Given the description of an element on the screen output the (x, y) to click on. 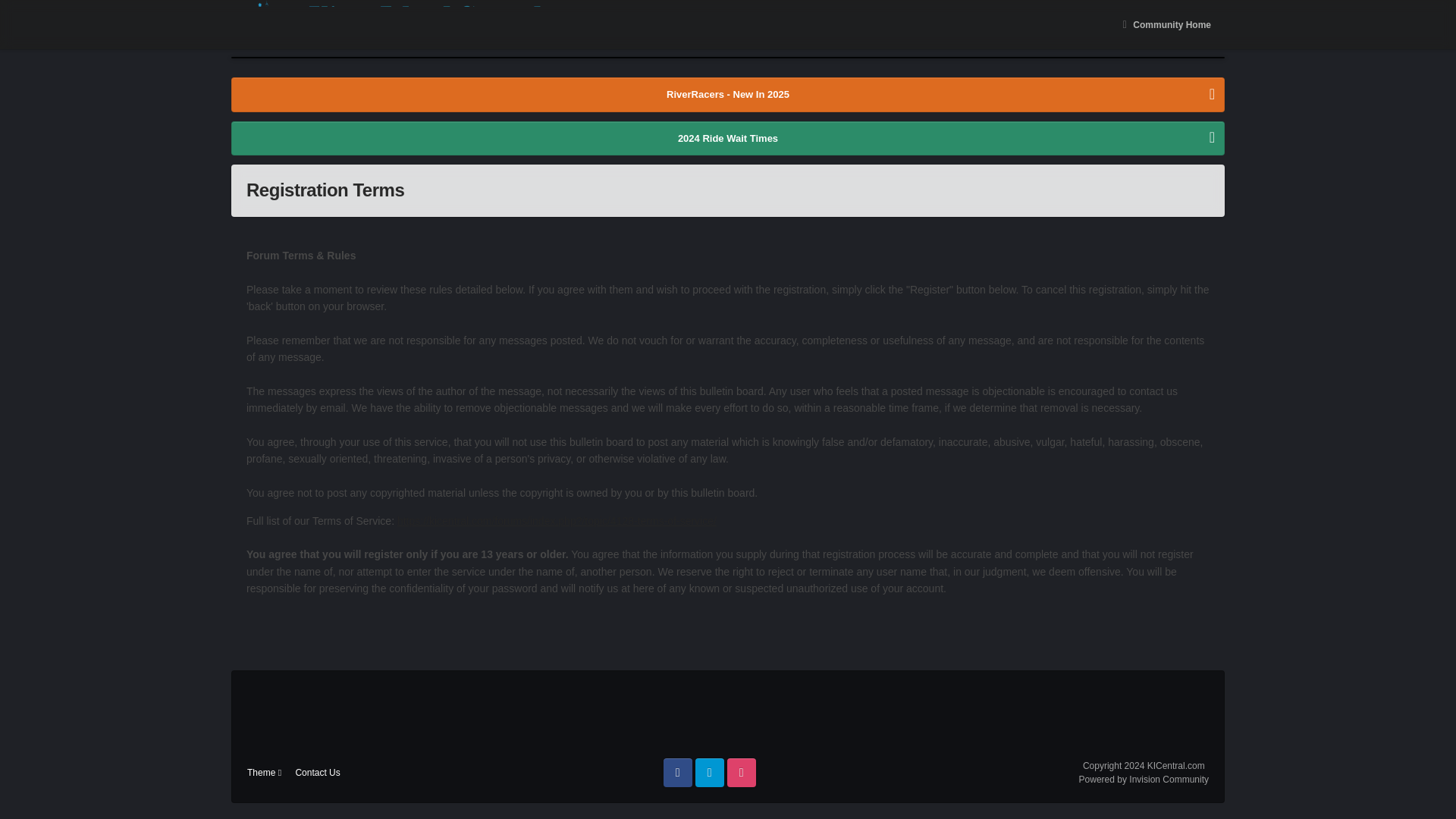
2024 Ride Wait Times (727, 137)
Instagram (740, 772)
RiverRacers - New In 2025 (727, 94)
Invision Community (1143, 778)
Community Home (1164, 24)
Twitter (709, 772)
Powered by Invision Community (1143, 778)
Facebook (678, 772)
Theme (264, 772)
Contact Us (317, 772)
